Given the description of an element on the screen output the (x, y) to click on. 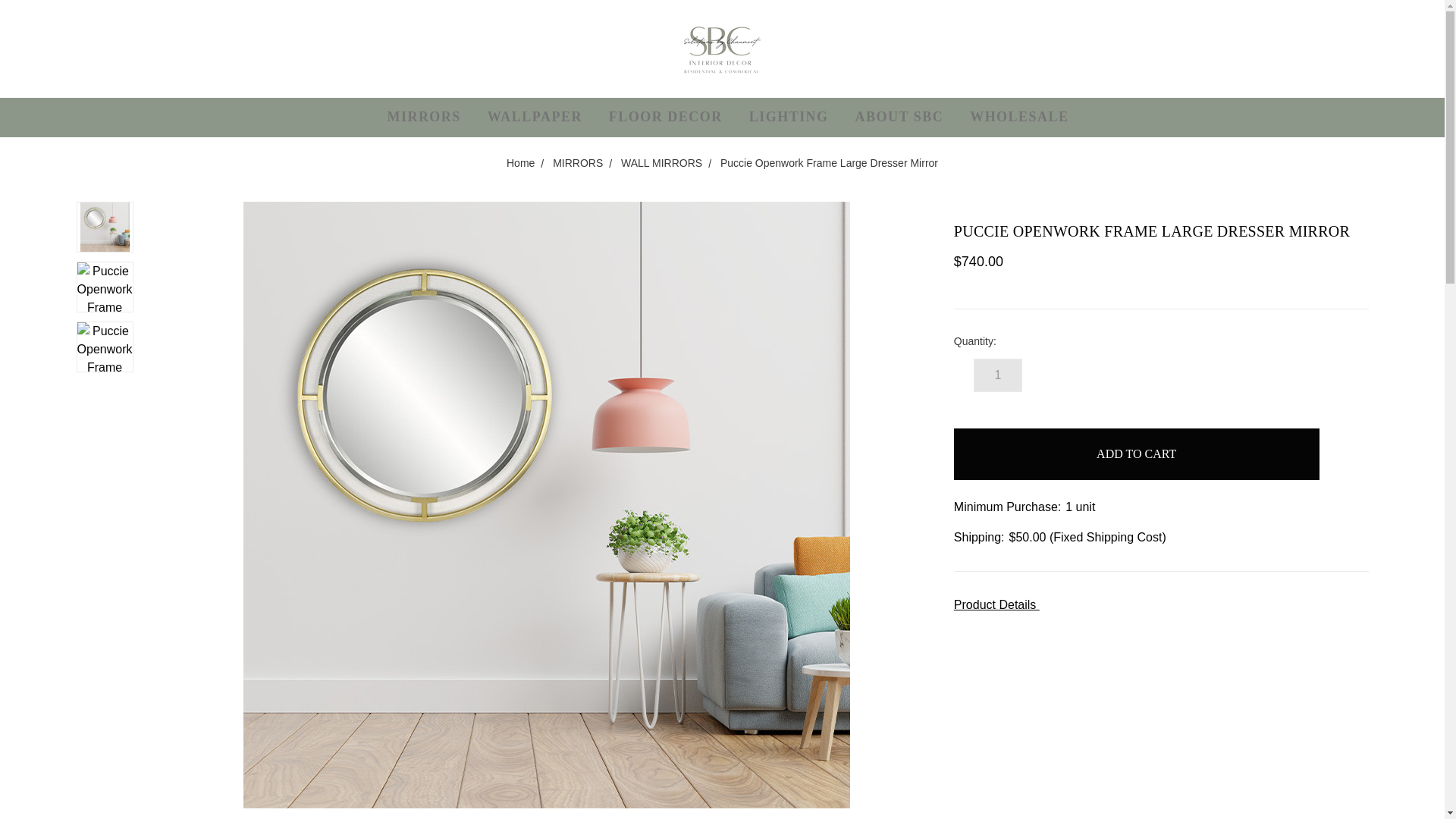
SBC Interior Decor (721, 48)
Puccie Openwork Frame Large Dresser Mirror (104, 226)
1 (998, 375)
Puccie Openwork Frame Large Dresser Mirror (104, 346)
Product Details (1160, 605)
WALLPAPER (541, 117)
Add to Cart (1136, 453)
Puccie Openwork Frame Large Dresser Mirror (104, 287)
MIRRORS (431, 117)
